Given the description of an element on the screen output the (x, y) to click on. 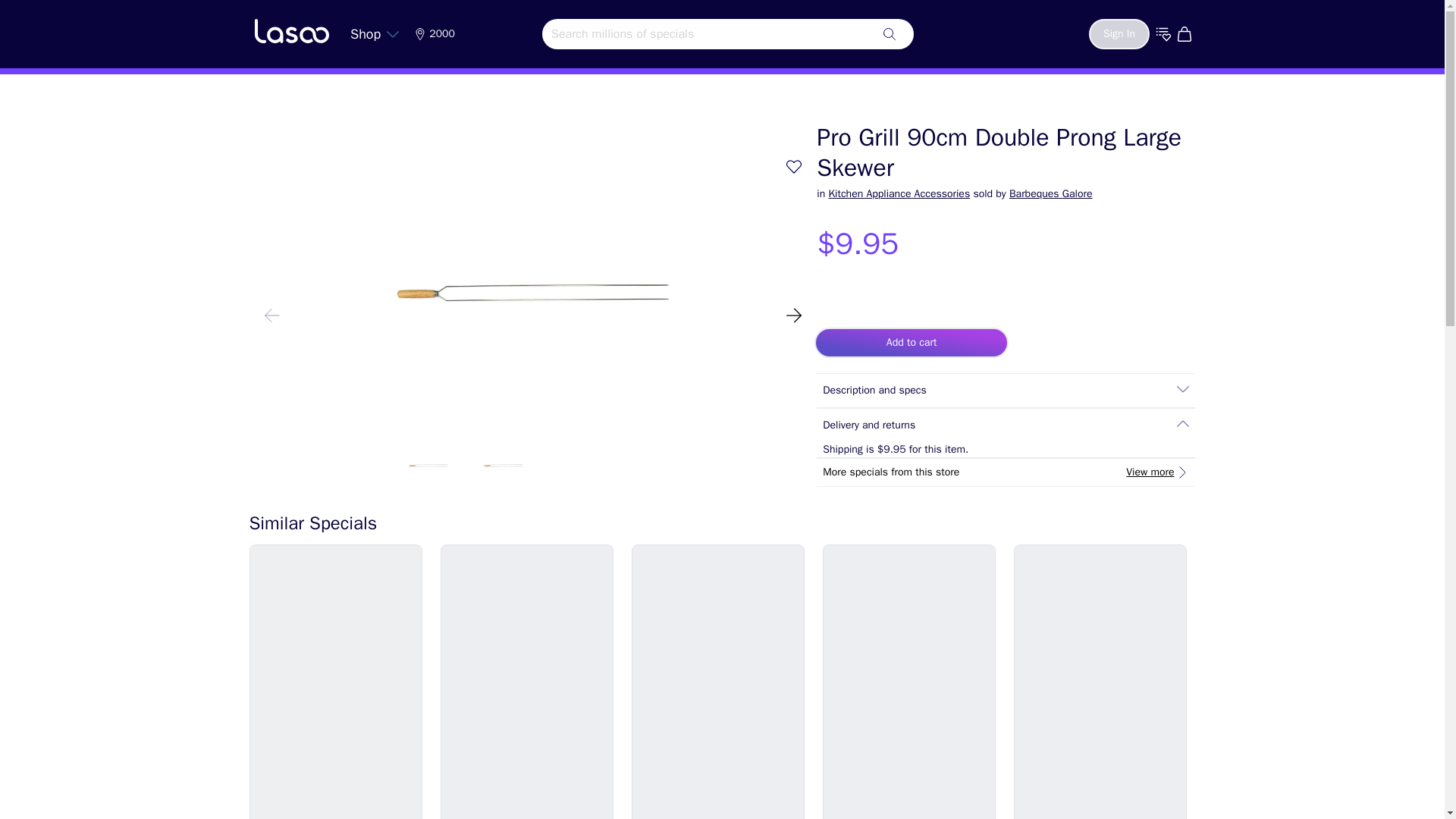
lasoo (291, 30)
Shop (374, 33)
Go to cart (1185, 33)
Go to wishlist (1163, 33)
